Given the description of an element on the screen output the (x, y) to click on. 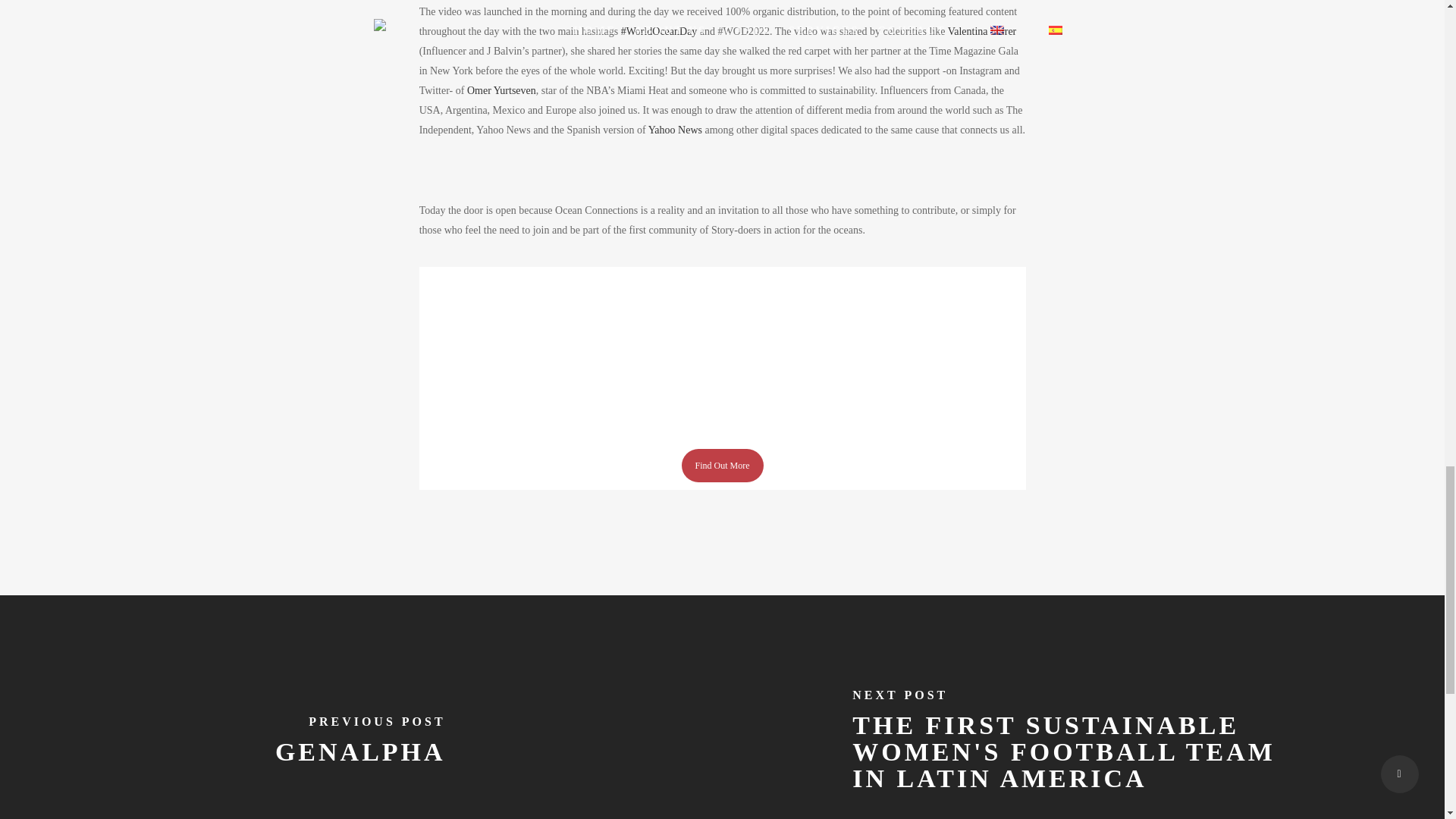
Find Out More (721, 465)
Valentina Ferrer (981, 30)
Omer Yurtseven (501, 90)
Yahoo News (673, 129)
